Given the description of an element on the screen output the (x, y) to click on. 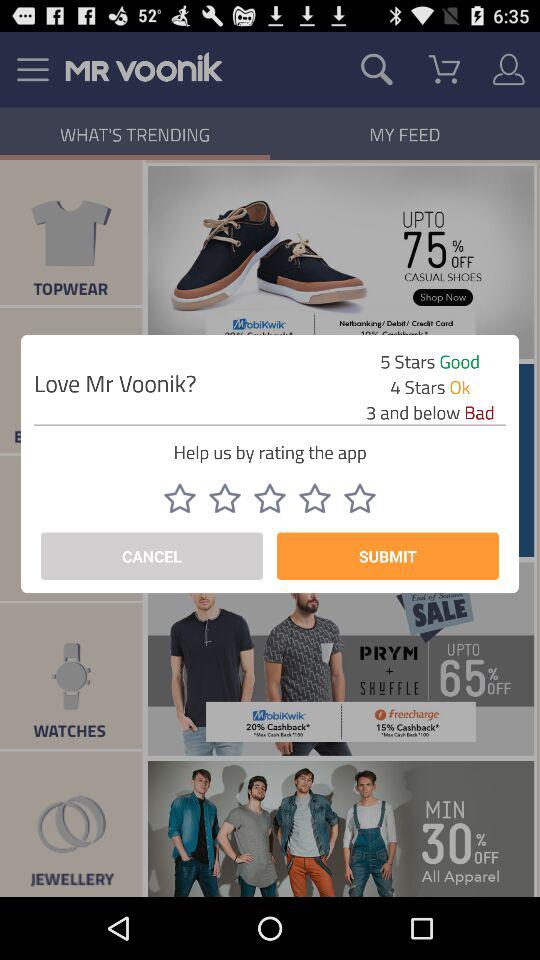
select two star rating (225, 498)
